Given the description of an element on the screen output the (x, y) to click on. 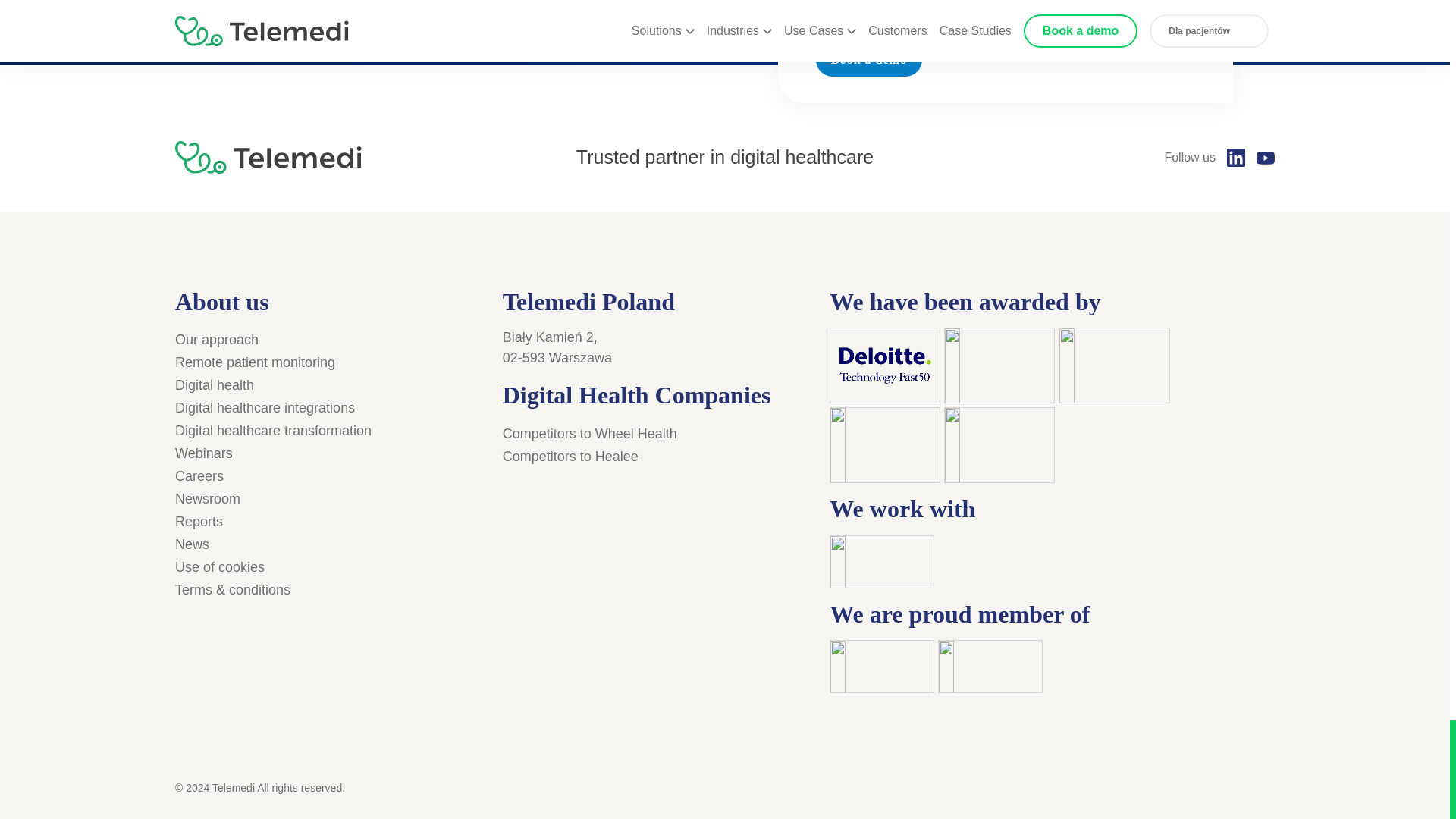
Book a demo (868, 59)
1 (823, 14)
